Given the description of an element on the screen output the (x, y) to click on. 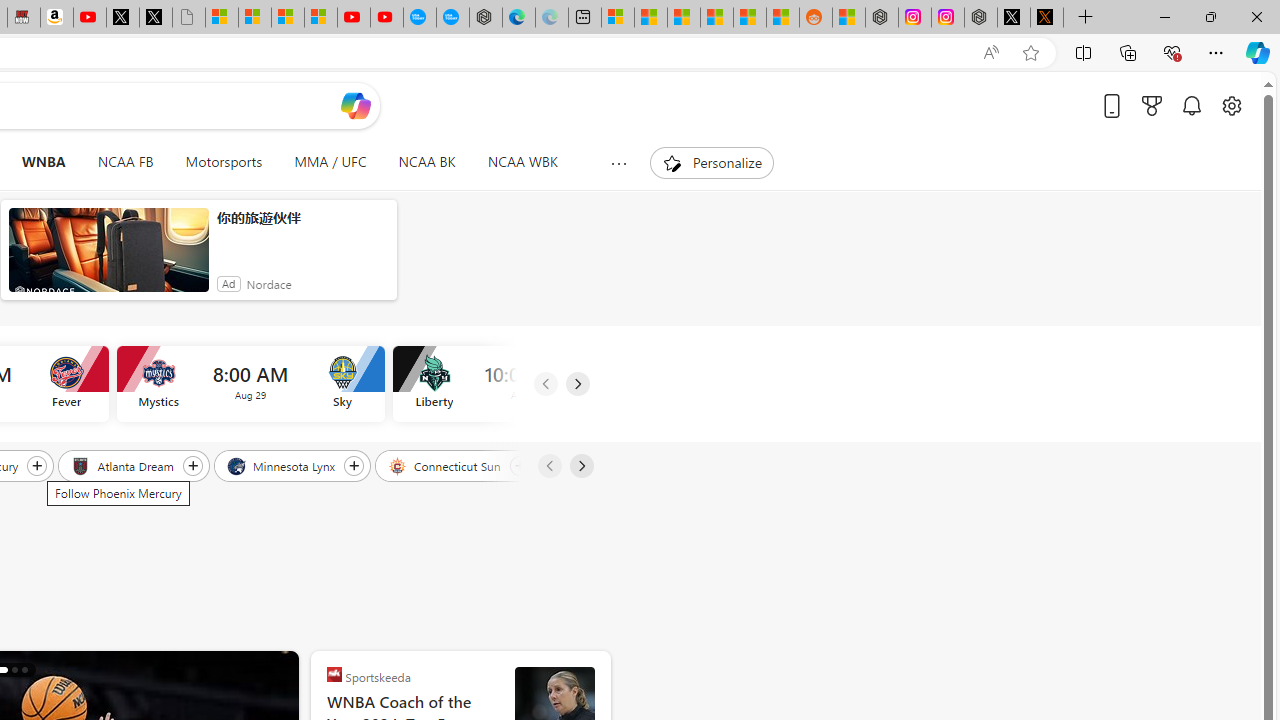
Shanghai, China Weather trends | Microsoft Weather (782, 17)
Show more topics (617, 163)
NCAA FB (125, 162)
Follow Phoenix Mercury (37, 465)
WNBA (43, 162)
Nordace - Nordace has arrived Hong Kong (485, 17)
The most popular Google 'how to' searches (452, 17)
Motorsports (223, 162)
